Given the description of an element on the screen output the (x, y) to click on. 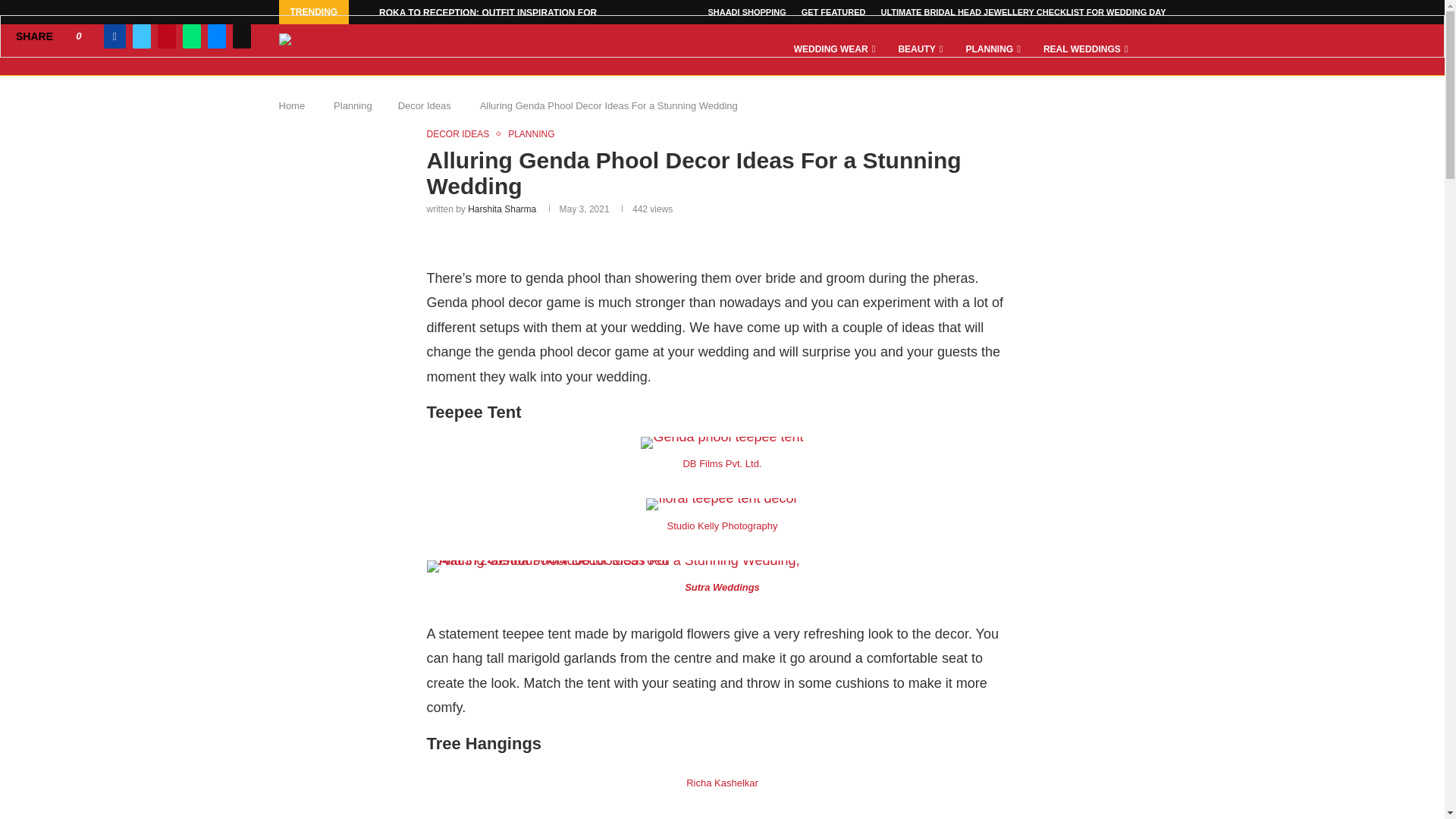
ULTIMATE BRIDAL HEAD JEWELLERY CHECKLIST FOR WEDDING DAY (1023, 12)
WEDDING WEAR (834, 49)
GET FEATURED (834, 12)
SHAADI SHOPPING (746, 12)
ROKA TO RECEPTION: OUTFIT INSPIRATION FOR EVERY CEREMONY... (534, 12)
